Given the description of an element on the screen output the (x, y) to click on. 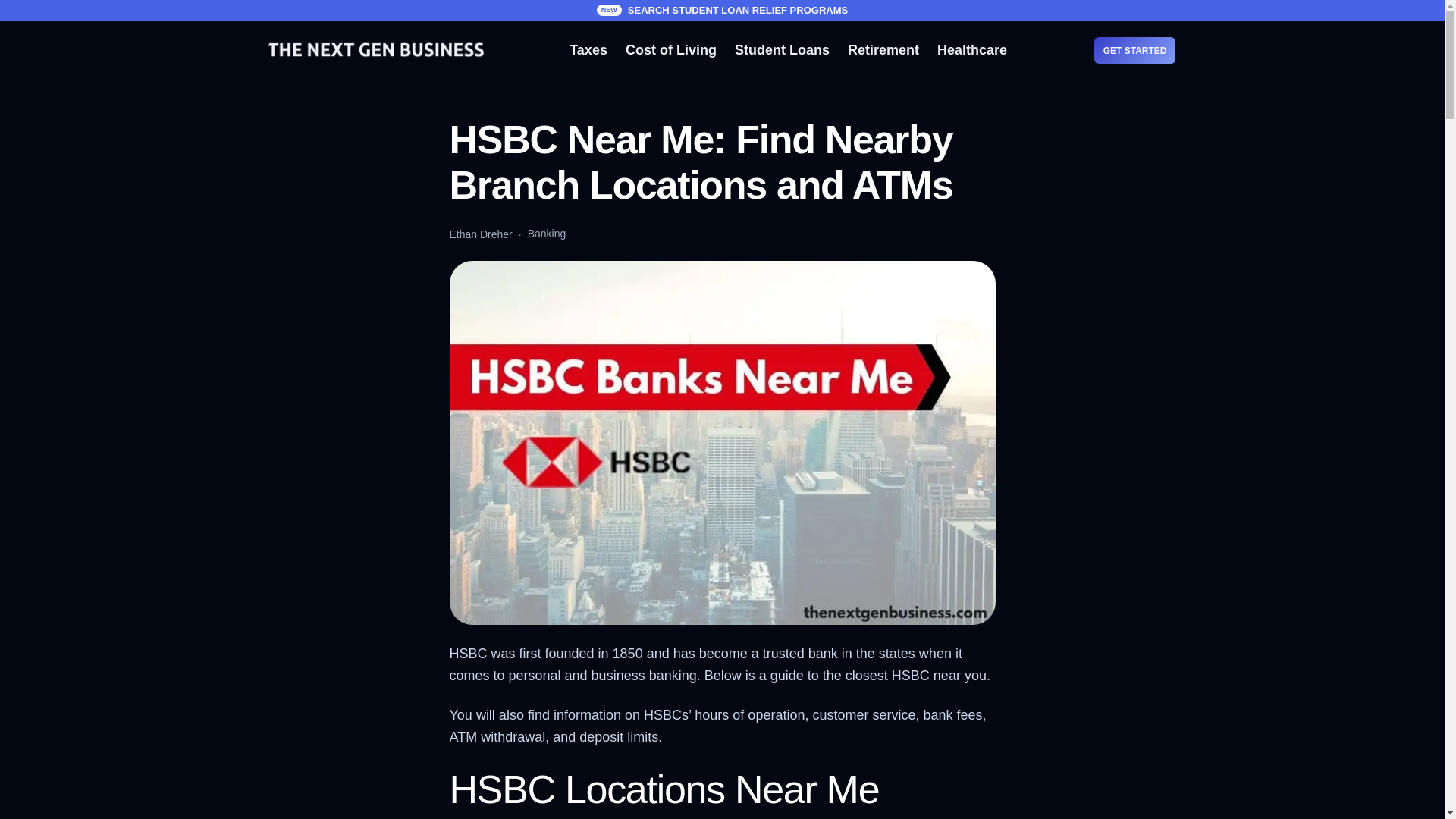
Cost of Living (671, 50)
SEARCH STUDENT LOAN RELIEF PROGRAMS (737, 9)
Ethan Dreher (480, 233)
Retirement (882, 50)
Student Loans (782, 50)
Taxes (588, 50)
Healthcare (972, 50)
GET STARTED (1135, 49)
Banking (546, 233)
